Given the description of an element on the screen output the (x, y) to click on. 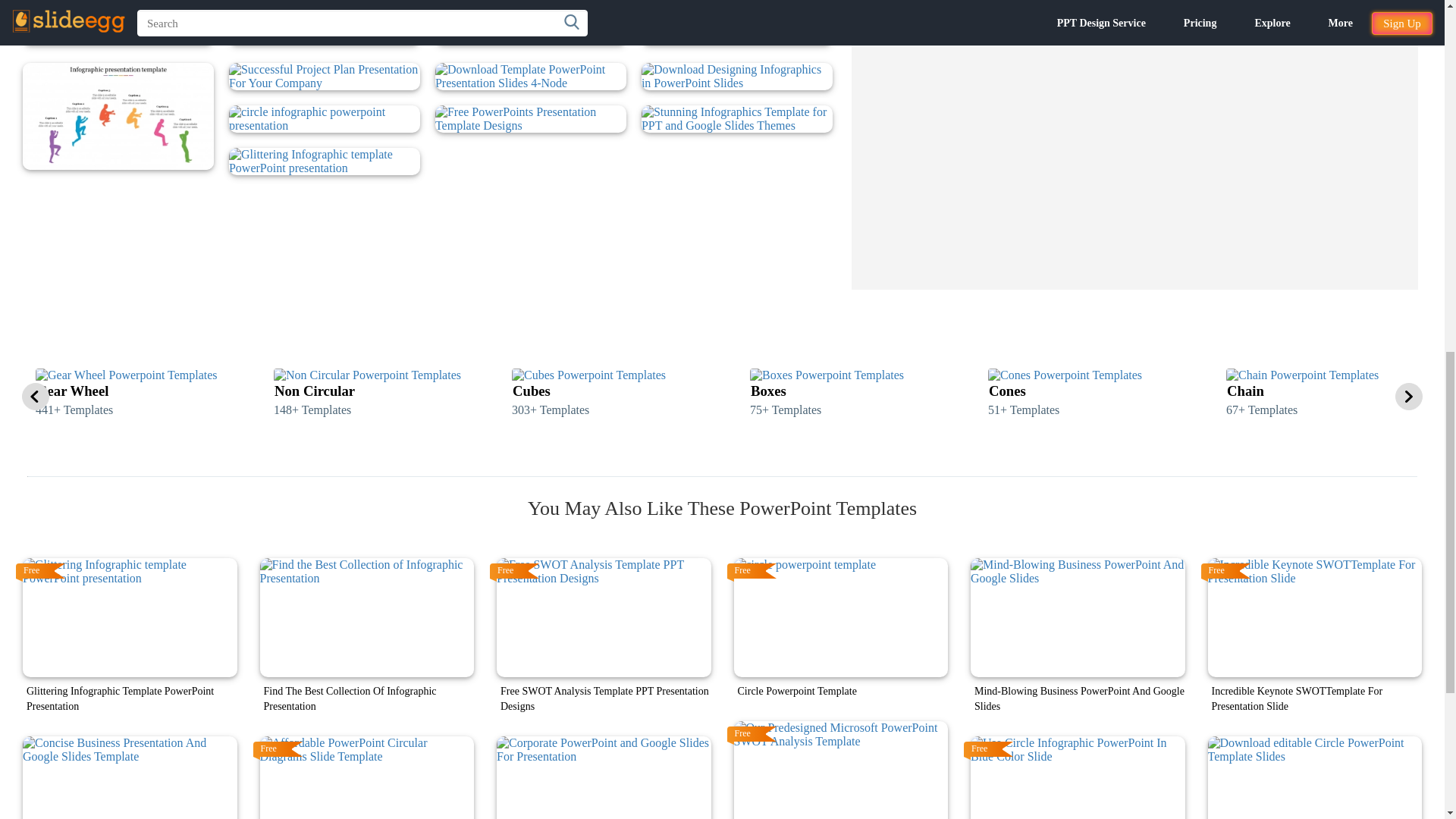
Concise Business Presentation And Google Slides Template (130, 777)
Download editable Circle PowerPoint Template Slides (1314, 777)
Use Circle Infographic PowerPoint In Blue Color Slide (1078, 777)
Free SWOT Analysis Template PPT Presentation Designs (603, 617)
Find the Best Collection of Infographic Presentation (366, 617)
Mind-Blowing Business PowerPoint And Google Slides (1078, 617)
Glittering Infographic template PowerPoint presentation (130, 617)
Incredible Keynote SWOTTemplate For Presentation Slide (1314, 617)
Corporate PowerPoint and Google Slides For Presentation (603, 777)
Our Predesigned Microsoft PowerPoint SWOT Analysis Template (841, 770)
